Given the description of an element on the screen output the (x, y) to click on. 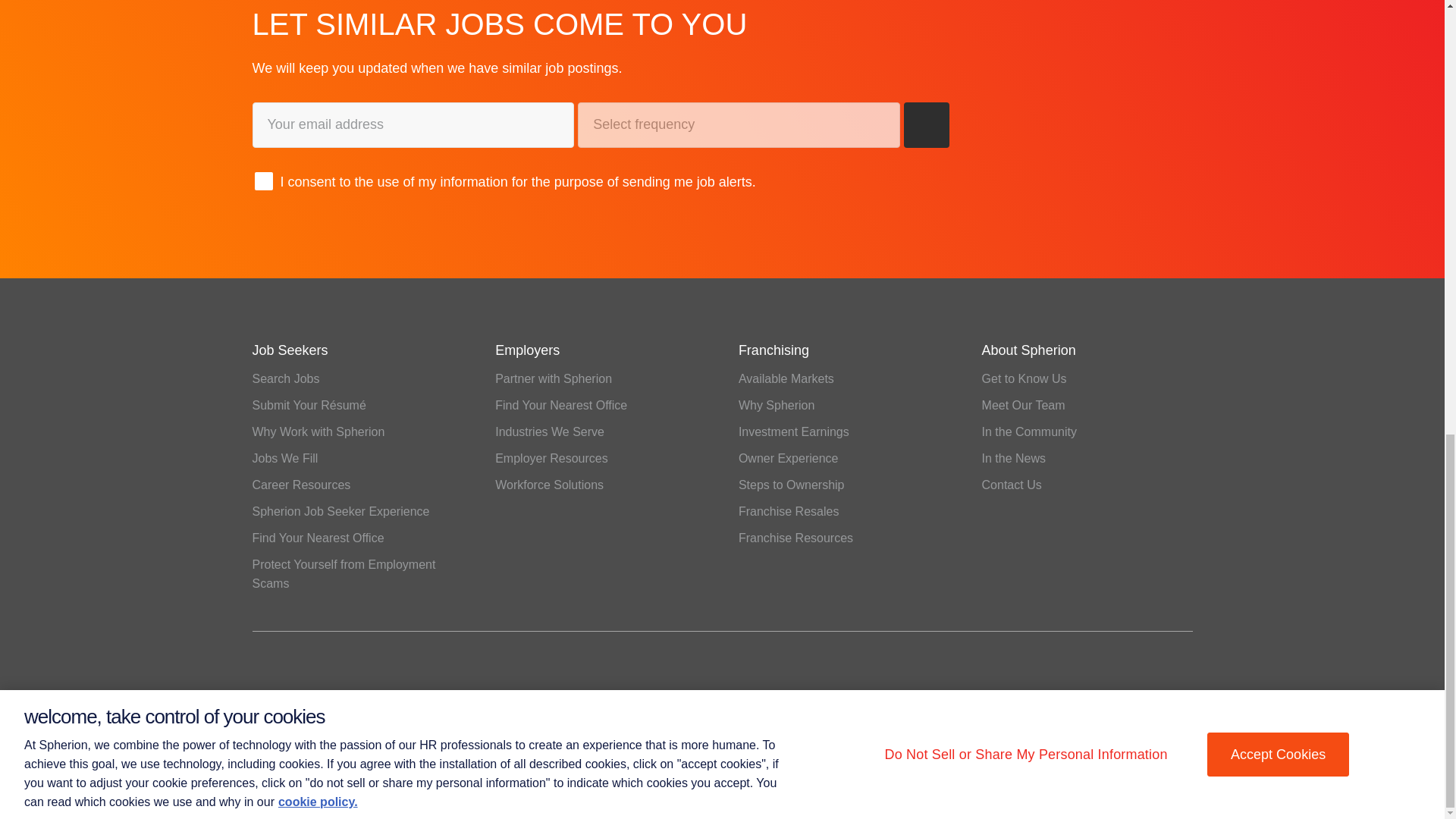
Click to visit Spherion's LinkedIn page (263, 672)
Explore resources for franchisees on our blog (795, 537)
Click to view photos and Reels on Spherion's Instagram page (414, 672)
Read about how Spherion manages your personal data (342, 771)
Purchase an existing Spherion franchise location (789, 511)
Click to visit Spherion's Twitter profile (301, 672)
Click to visit Spherion's Facebook page (338, 672)
Learn how to spot job scams (343, 573)
Click to view videos from Spherion on TikTok (452, 672)
